Given the description of an element on the screen output the (x, y) to click on. 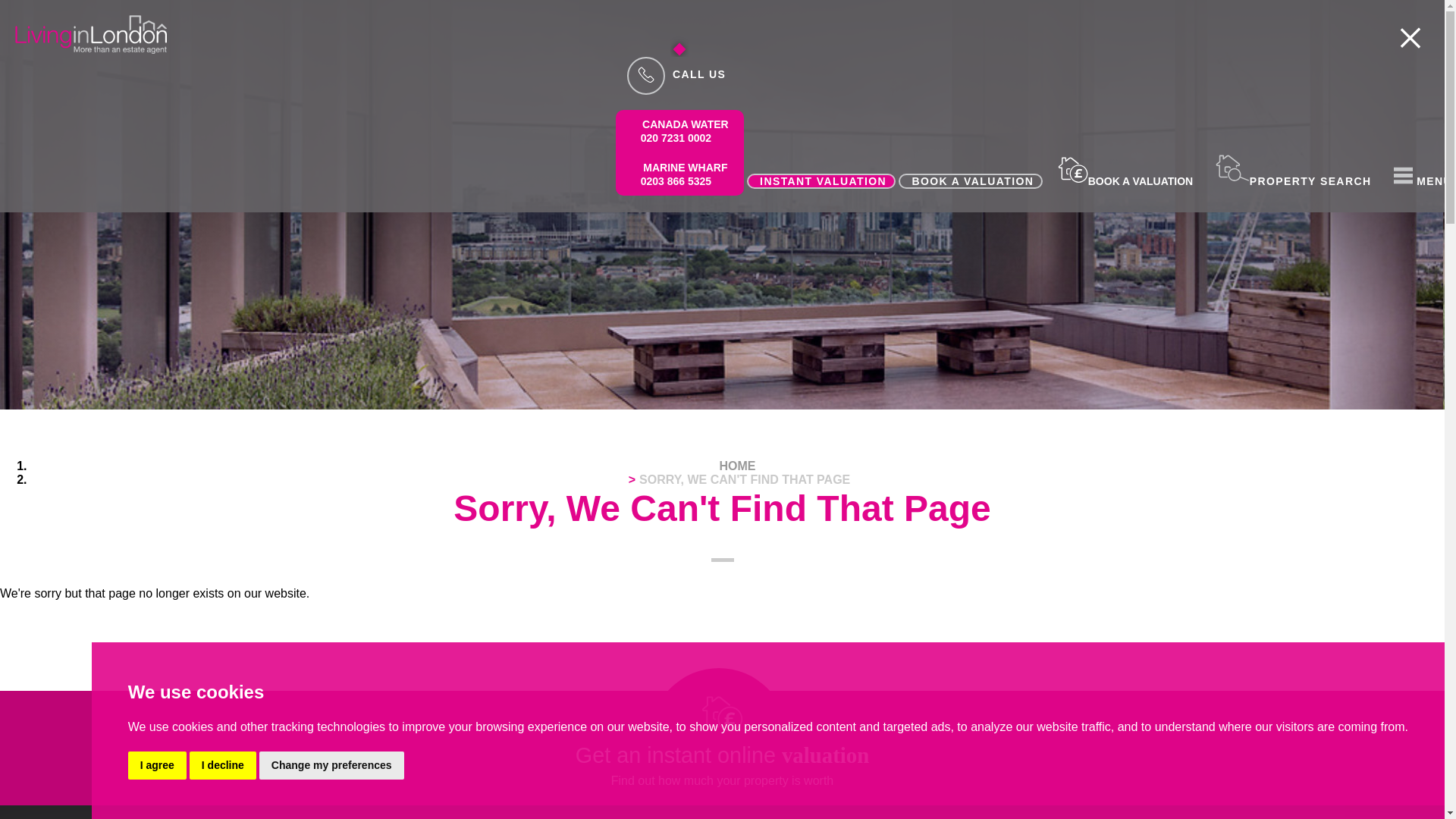
SORRY, WE CAN'T FIND THAT PAGE (744, 479)
HOME (737, 465)
CALL US (679, 130)
BOOK A VALUATION (674, 73)
PROPERTY SEARCH (1122, 181)
I decline (678, 174)
I agree (1291, 181)
BOOK A VALUATION (222, 765)
Change my preferences (157, 765)
INSTANT VALUATION (970, 181)
